Given the description of an element on the screen output the (x, y) to click on. 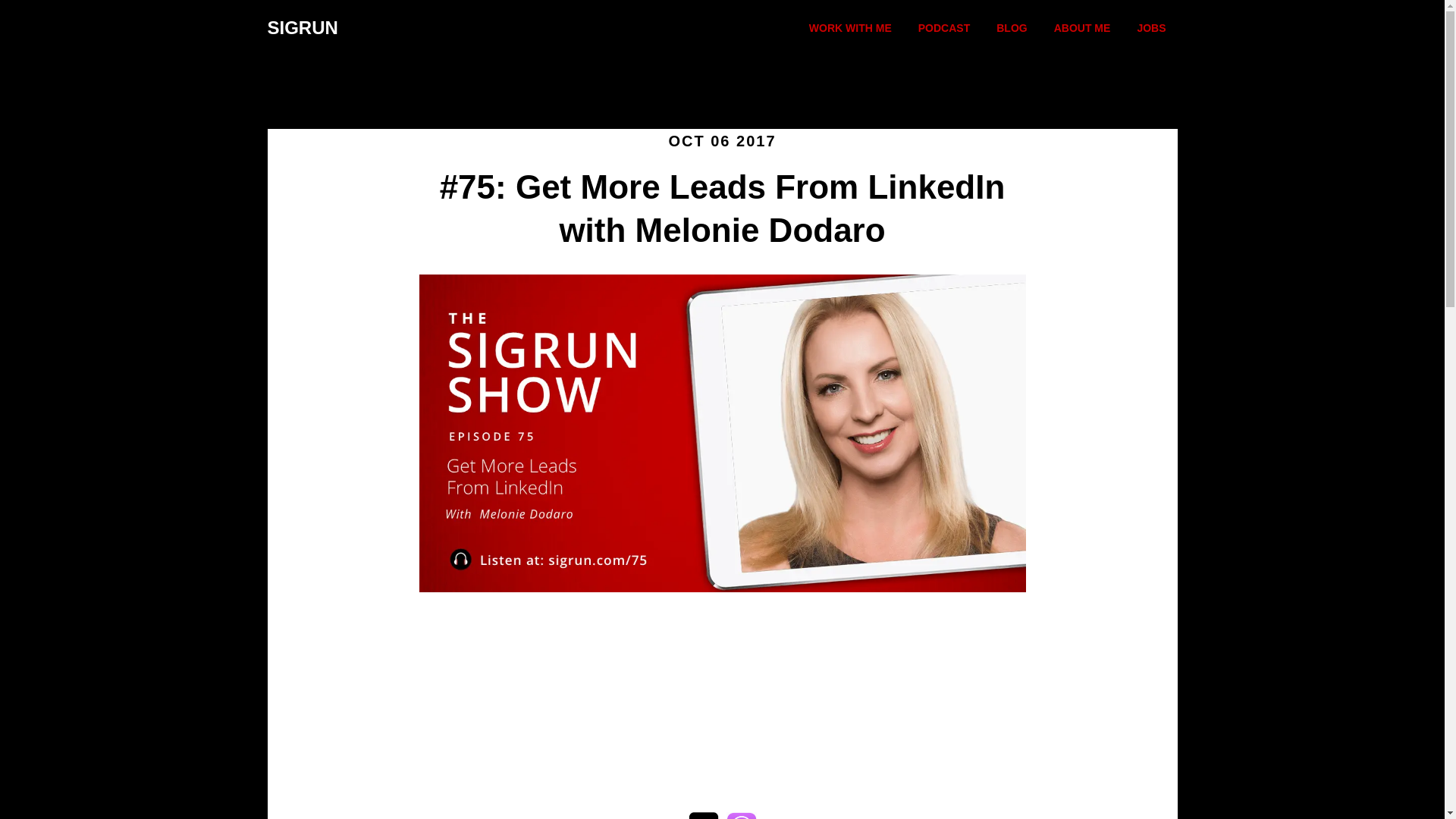
PODCAST (944, 28)
WORK WITH ME (849, 28)
ABOUT ME (1082, 28)
BLOG (1011, 28)
Embed Player (722, 696)
JOBS (1150, 28)
SIGRUN (301, 27)
